Given the description of an element on the screen output the (x, y) to click on. 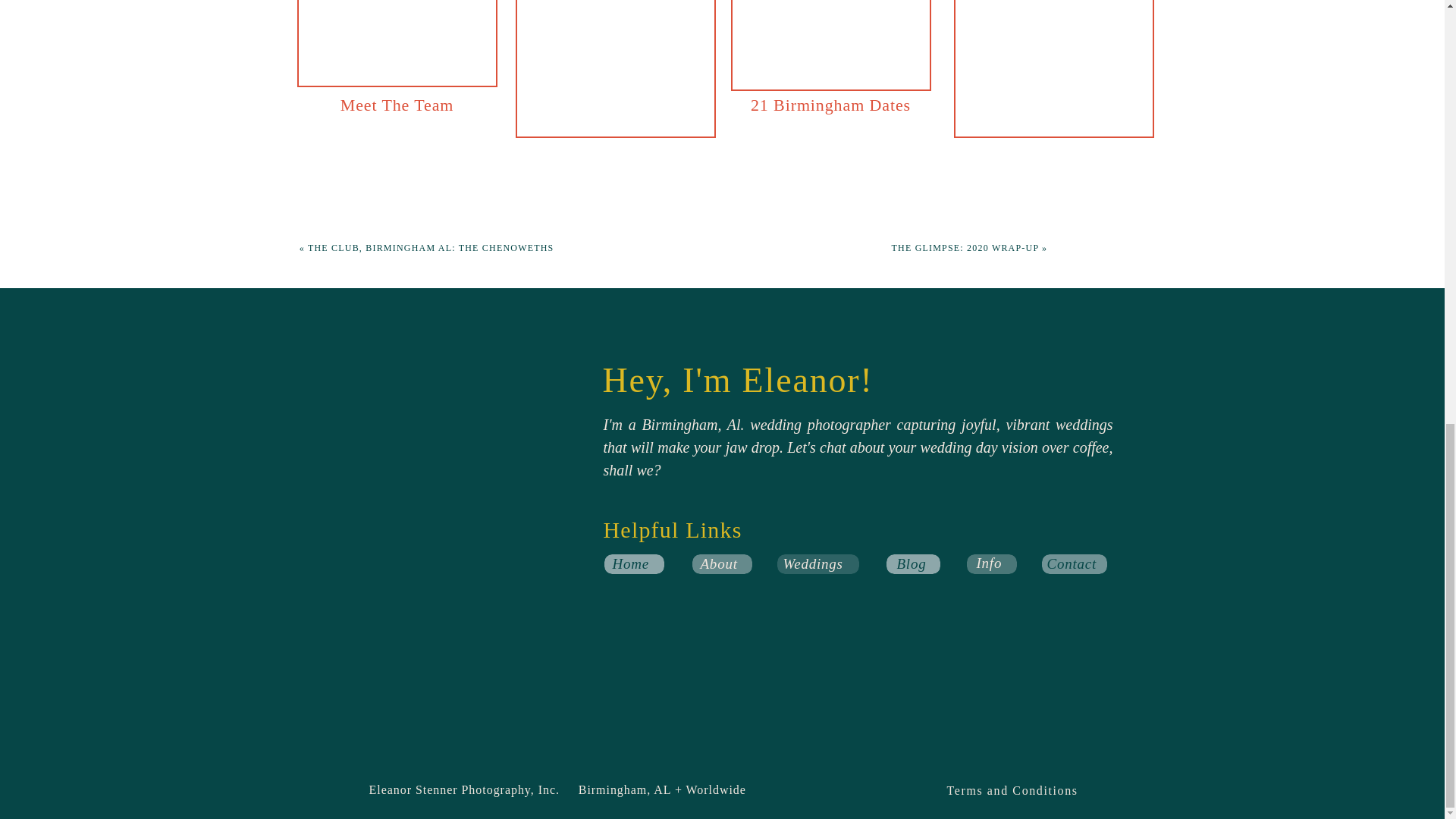
Zola (508, 82)
Vans (468, 49)
Savoie (489, 15)
